Given the description of an element on the screen output the (x, y) to click on. 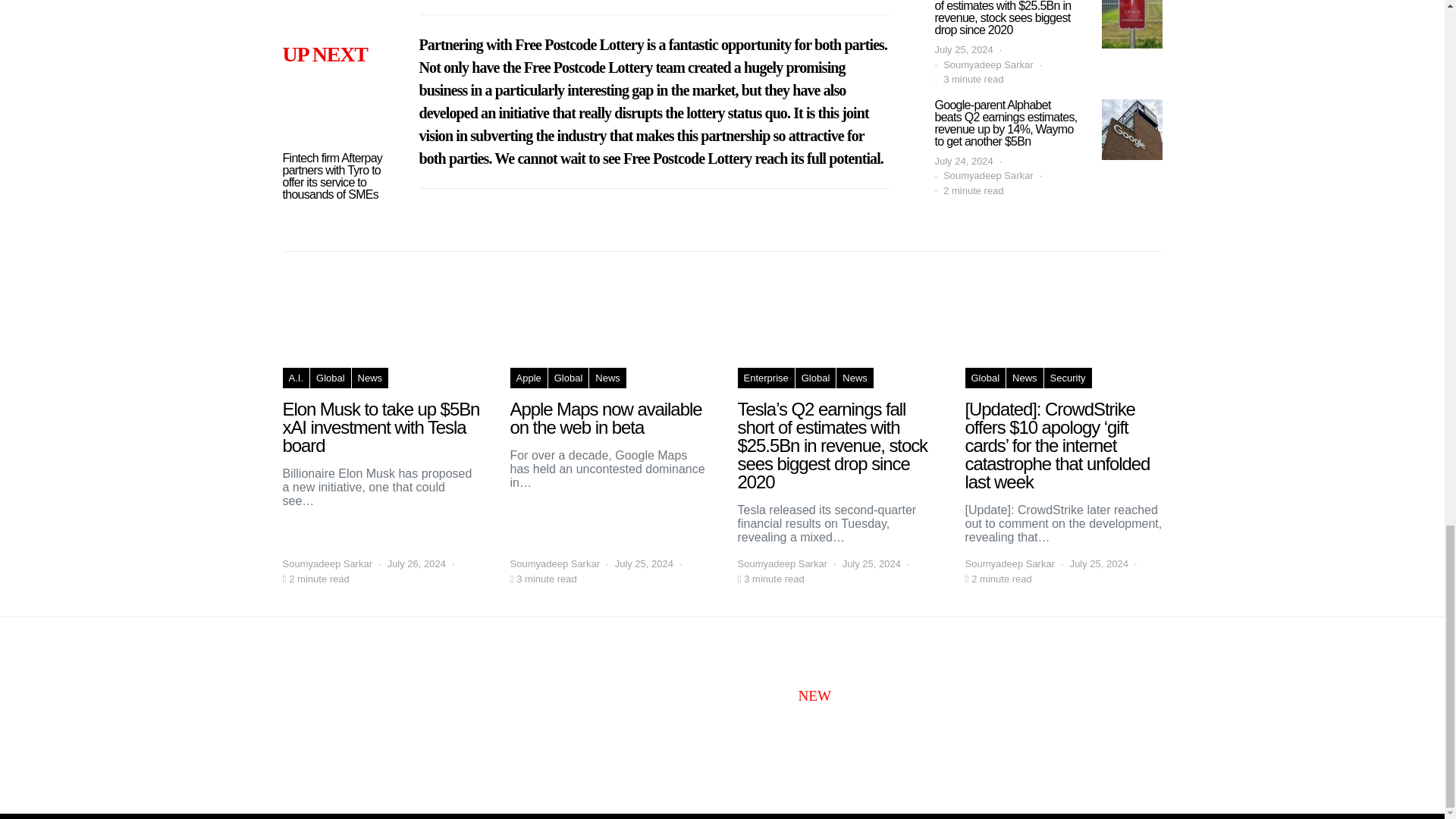
View all posts by Soumyadeep Sarkar (554, 563)
View all posts by Soumyadeep Sarkar (781, 563)
View all posts by Soumyadeep Sarkar (1008, 563)
View all posts by Soumyadeep Sarkar (327, 563)
